Given the description of an element on the screen output the (x, y) to click on. 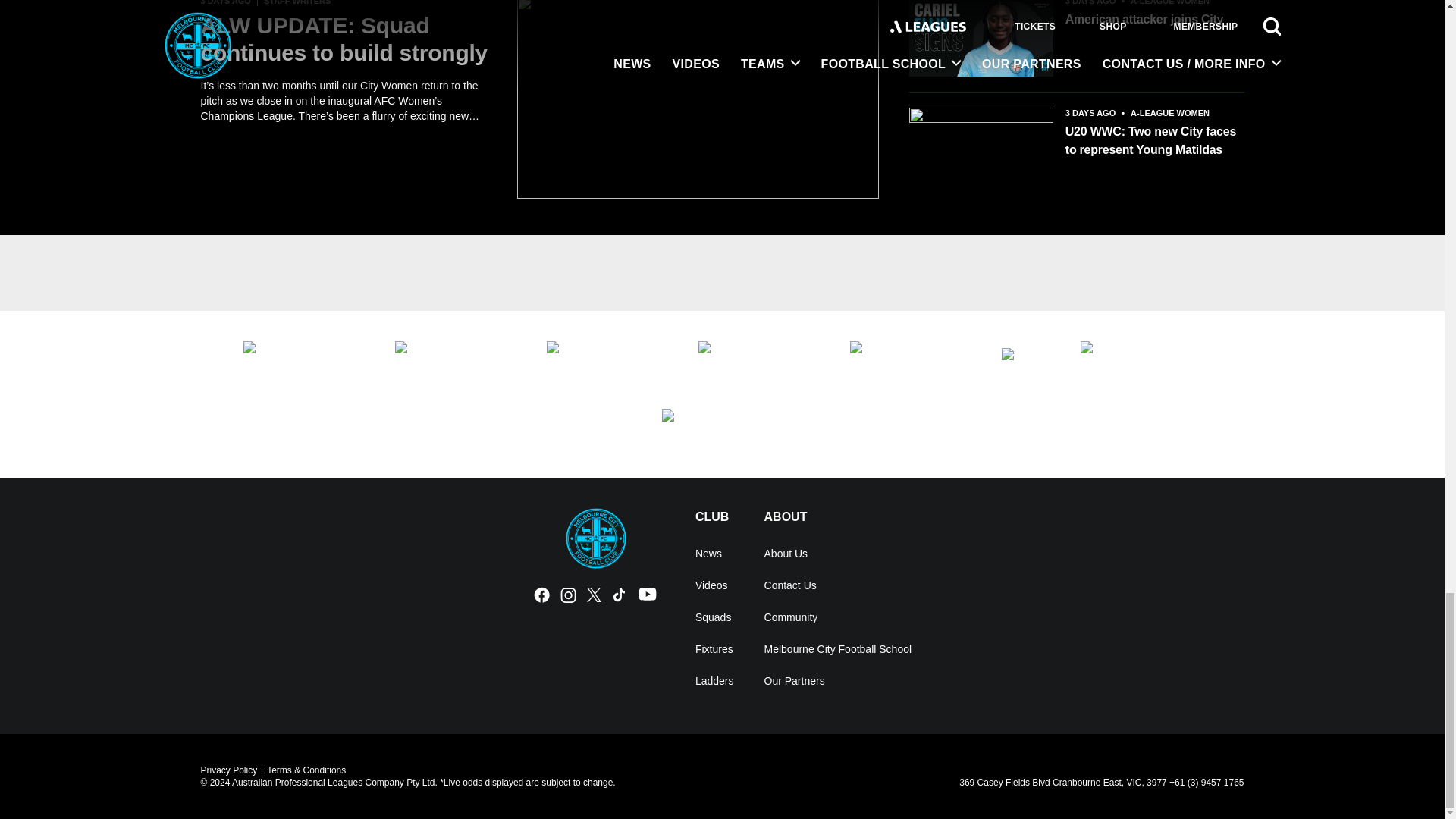
Origin (1140, 360)
Etihad Airways (303, 360)
Nostra (1025, 360)
Asahi Super Dry (454, 360)
Hostplus (606, 360)
PUMA (722, 428)
Nissan (909, 360)
